Given the description of an element on the screen output the (x, y) to click on. 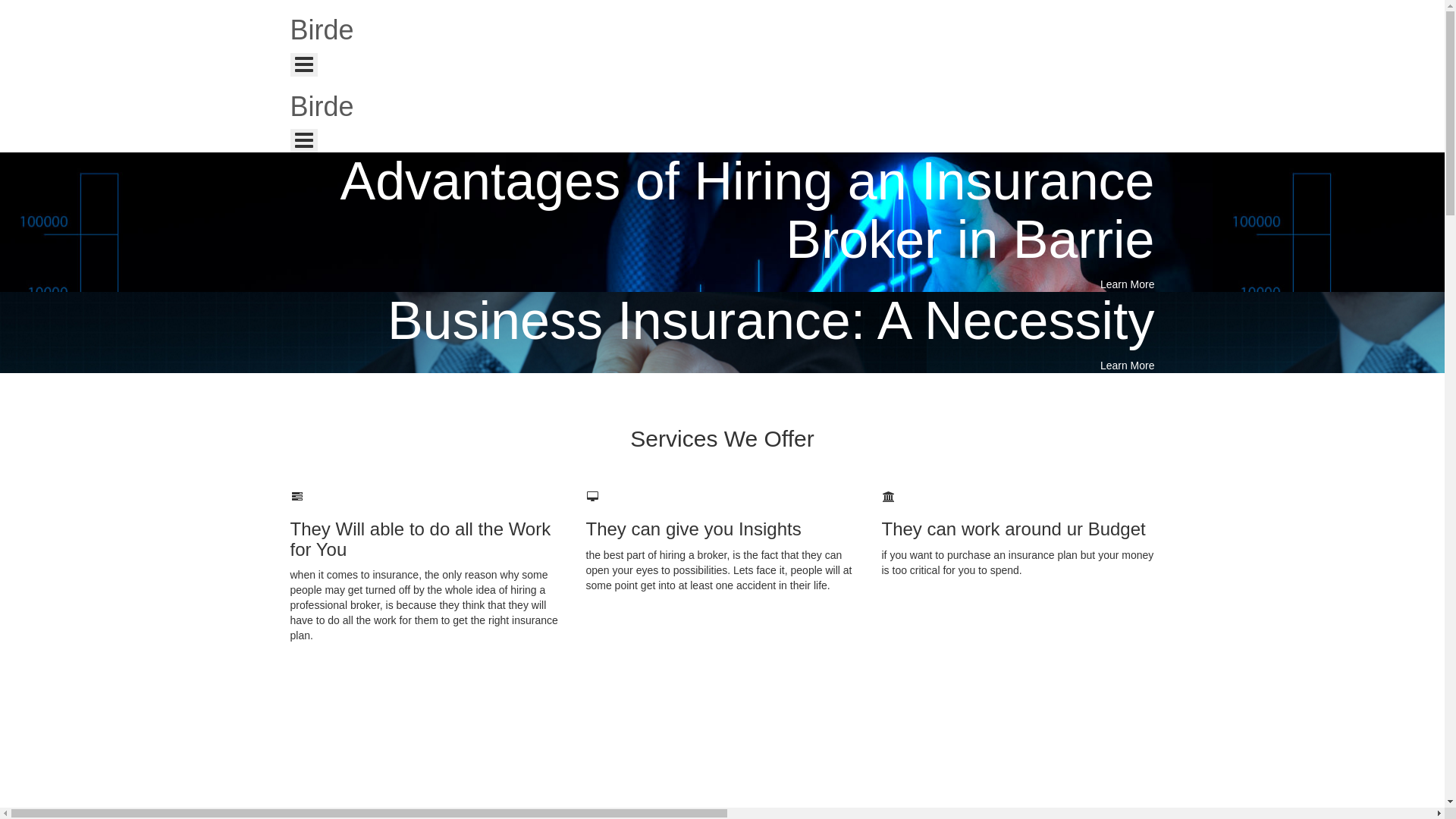
Learn More Element type: text (1127, 284)
Toggle navigation Element type: text (302, 140)
Learn More Element type: text (1127, 365)
Birde Element type: text (721, 106)
Birde Element type: text (721, 30)
Toggle navigation Element type: text (302, 64)
